Given the description of an element on the screen output the (x, y) to click on. 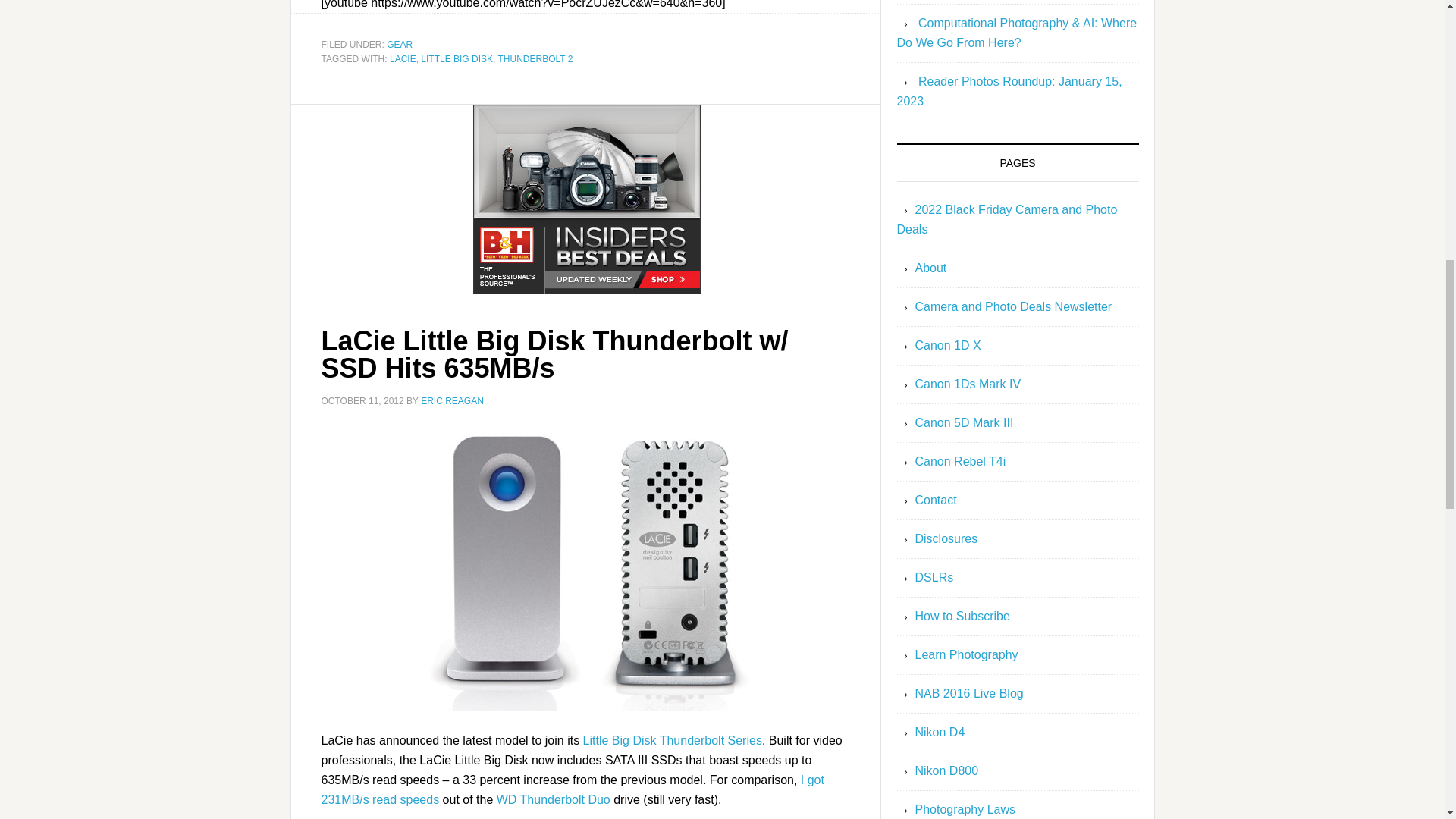
LITTLE BIG DISK (456, 59)
LACIE (403, 59)
Little Big Disk Thunderbolt Series (672, 739)
ERIC REAGAN (451, 400)
THUNDERBOLT 2 (534, 59)
GEAR (399, 44)
WD Thunderbolt Duo (553, 799)
LaCie Little Big Disk Thunderbolt SSD (585, 568)
